Given the description of an element on the screen output the (x, y) to click on. 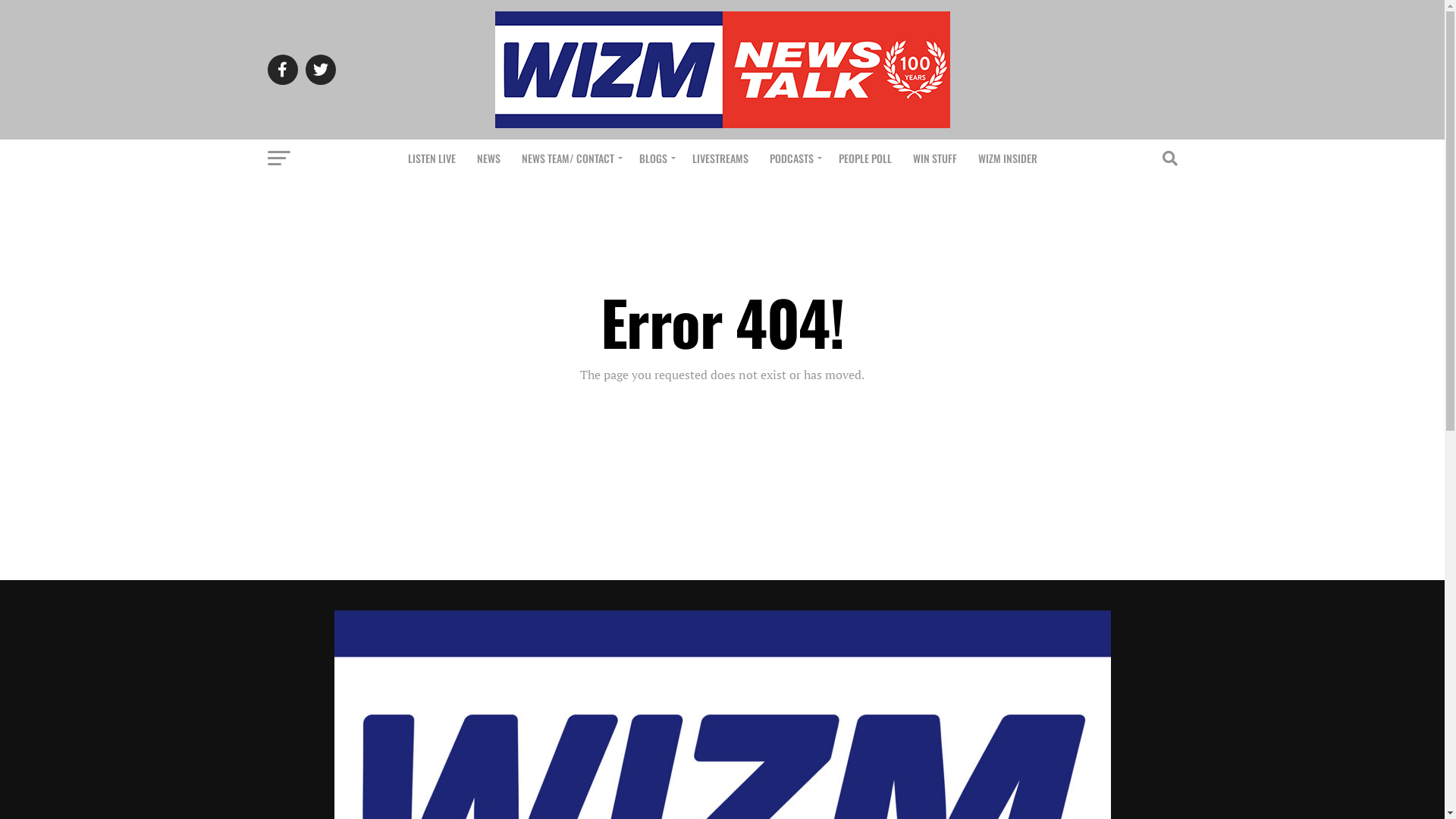
PODCASTS Element type: text (792, 158)
NEWS TEAM/ CONTACT Element type: text (569, 158)
NEWS Element type: text (487, 158)
WIN STUFF Element type: text (934, 158)
BLOGS Element type: text (654, 158)
LIVESTREAMS Element type: text (719, 158)
PEOPLE POLL Element type: text (864, 158)
LISTEN LIVE Element type: text (431, 158)
WIZM INSIDER Element type: text (1007, 158)
